Given the description of an element on the screen output the (x, y) to click on. 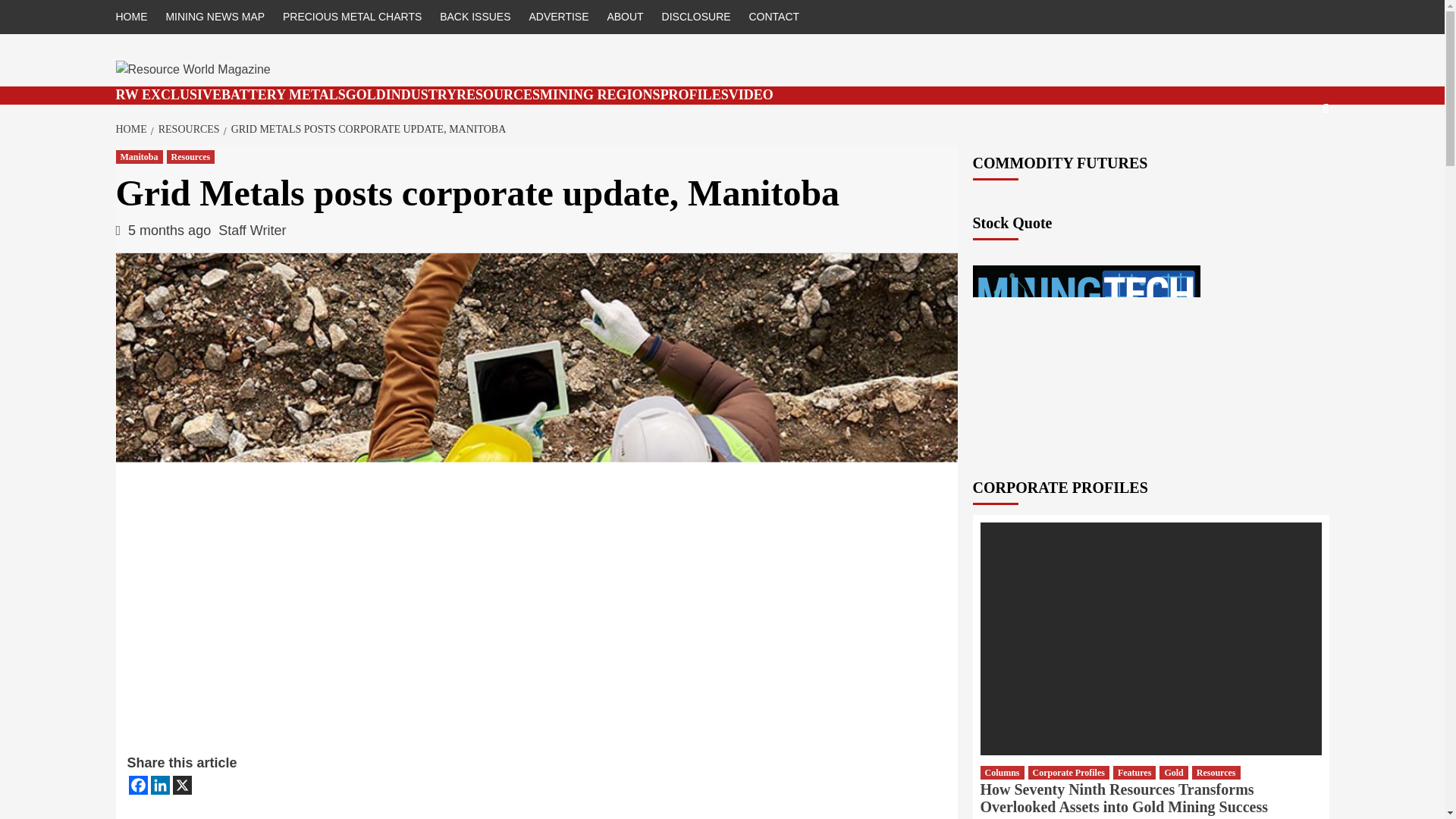
BACK ISSUES (475, 17)
CONTACT (773, 17)
PRECIOUS METAL CHARTS (352, 17)
X (182, 784)
INDUSTRY (421, 94)
NEW!! (751, 94)
Facebook (138, 784)
BATTERY METALS (283, 94)
RESOURCES (498, 94)
MINING NEWS MAP (214, 17)
RW EXCLUSIVE (168, 94)
Linkedin (158, 784)
DISCLOSURE (695, 17)
Original Editorial by Resource World. (168, 94)
GOLD (365, 94)
